Given the description of an element on the screen output the (x, y) to click on. 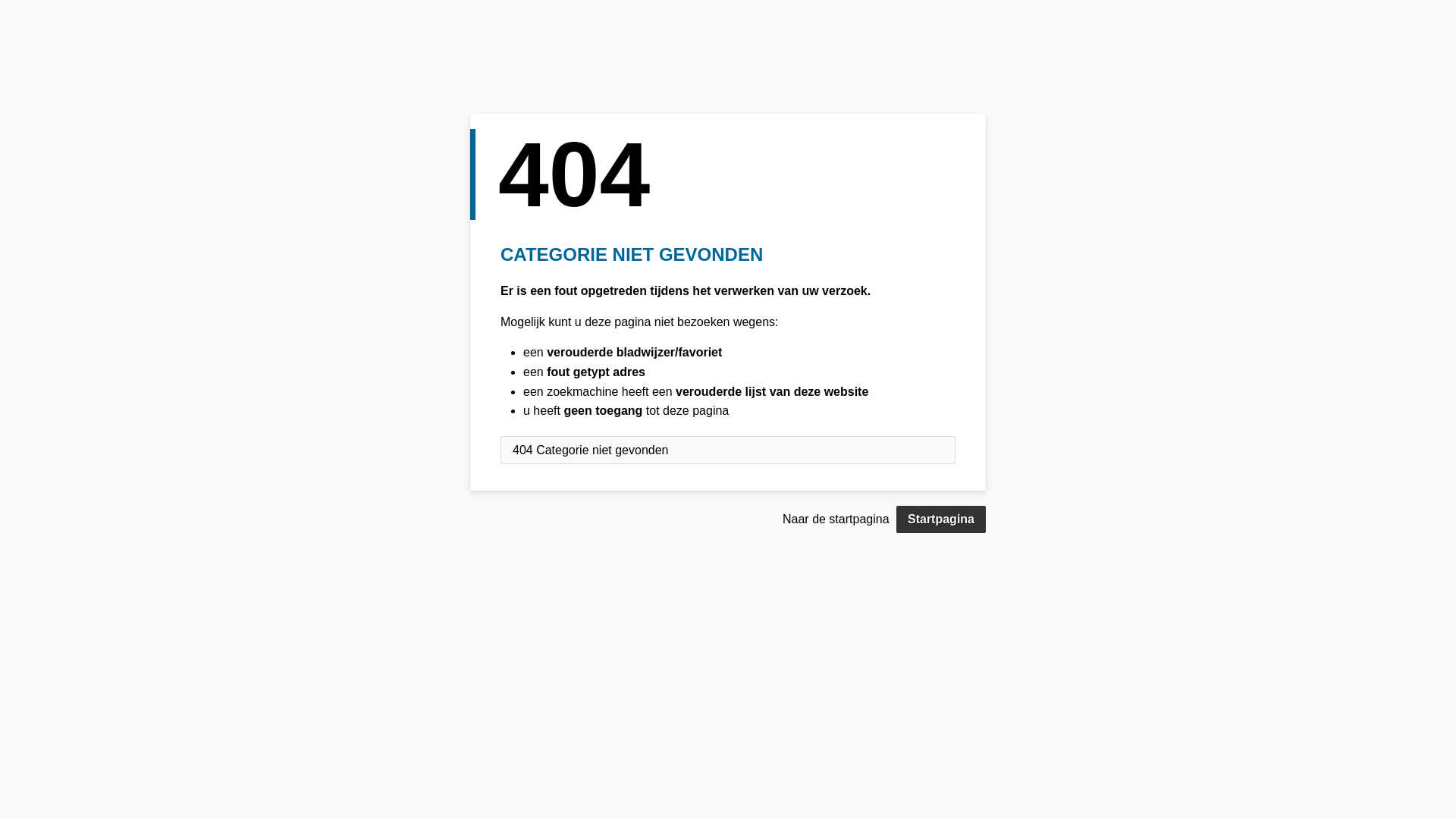
Startpagina Element type: text (940, 519)
